Given the description of an element on the screen output the (x, y) to click on. 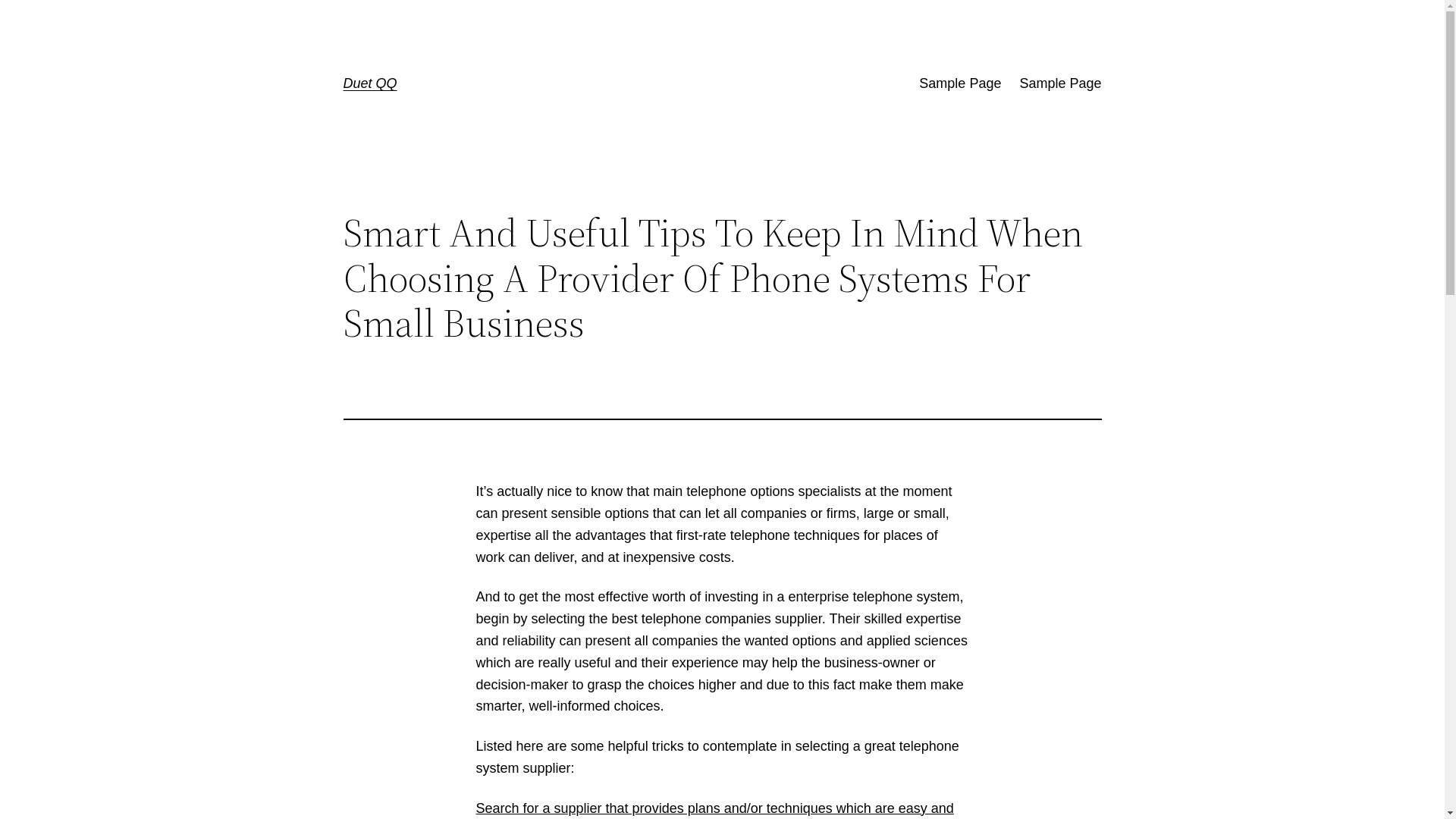
Sample Page Element type: text (960, 83)
Sample Page Element type: text (1060, 83)
Duet QQ Element type: text (369, 83)
